Given the description of an element on the screen output the (x, y) to click on. 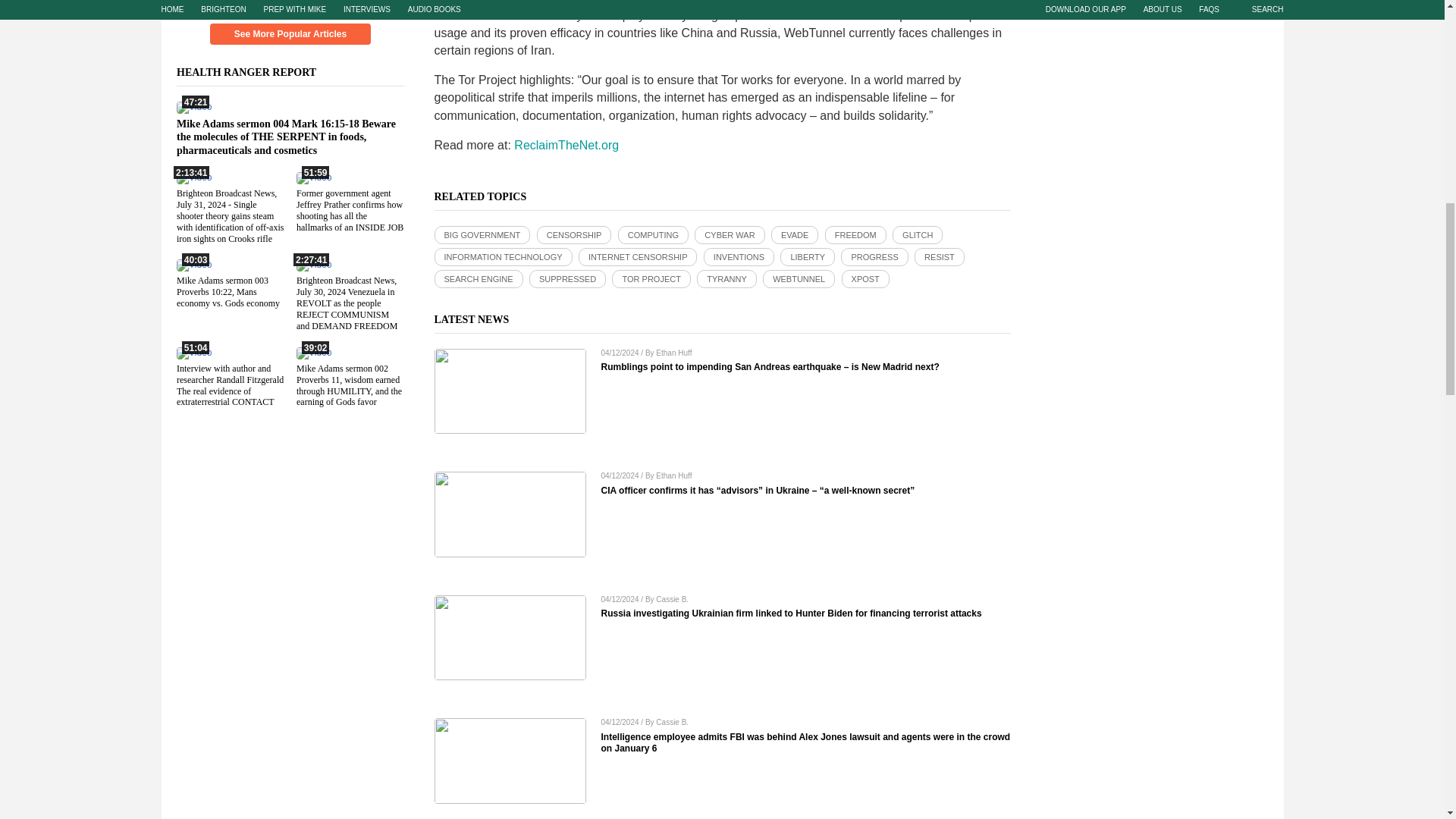
39:02 (312, 351)
2:27:41 (312, 264)
Scroll Down (290, 6)
40:03 (193, 264)
51:59 (312, 176)
HEALTH RANGER REPORT (254, 71)
2:13:41 (193, 176)
51:04 (193, 351)
47:21 (193, 106)
See More Popular Articles (289, 34)
